Given the description of an element on the screen output the (x, y) to click on. 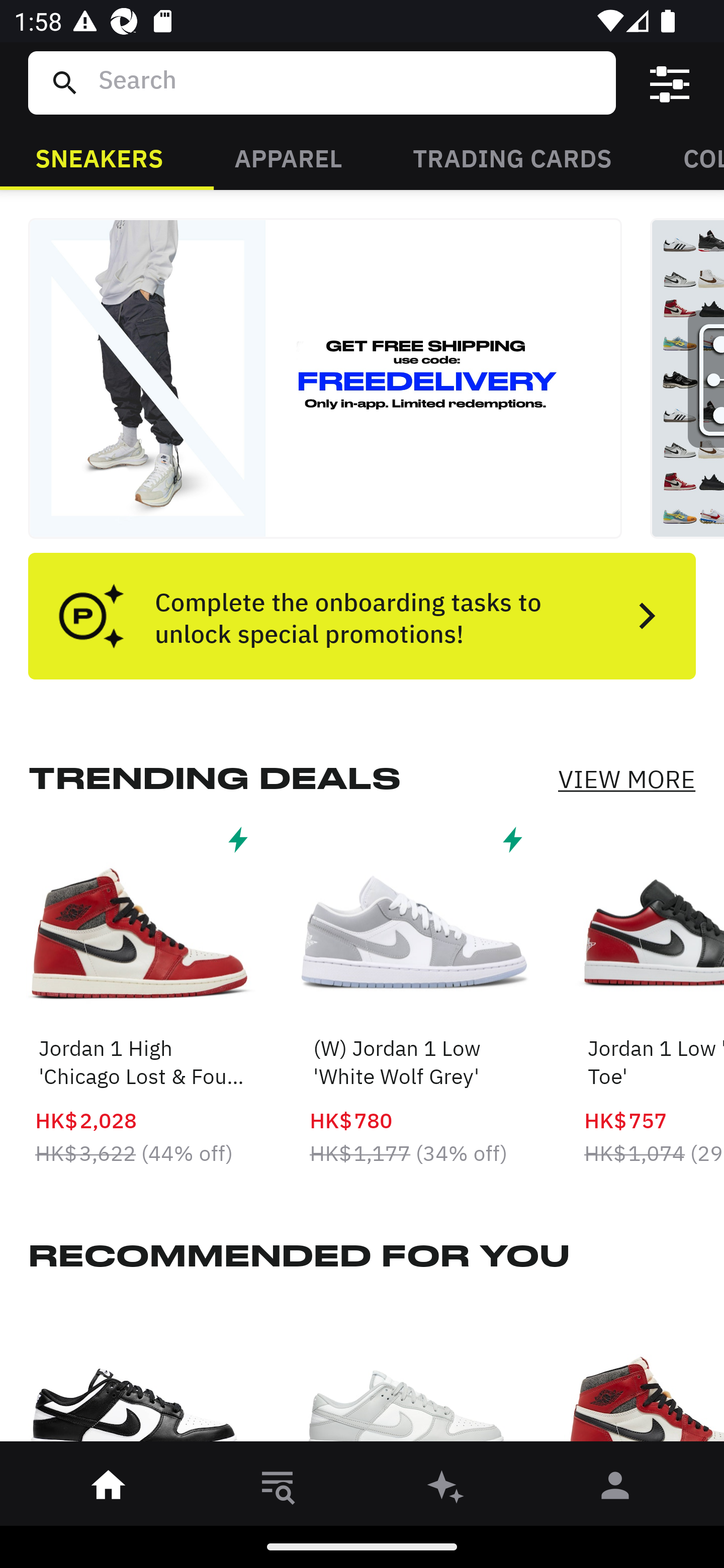
Search (349, 82)
 (669, 82)
SNEAKERS (99, 156)
APPAREL (287, 156)
TRADING CARDS (512, 156)
VIEW MORE (626, 779)
󰋜 (108, 1488)
󱎸 (277, 1488)
󰫢 (446, 1488)
󰀄 (615, 1488)
